Given the description of an element on the screen output the (x, y) to click on. 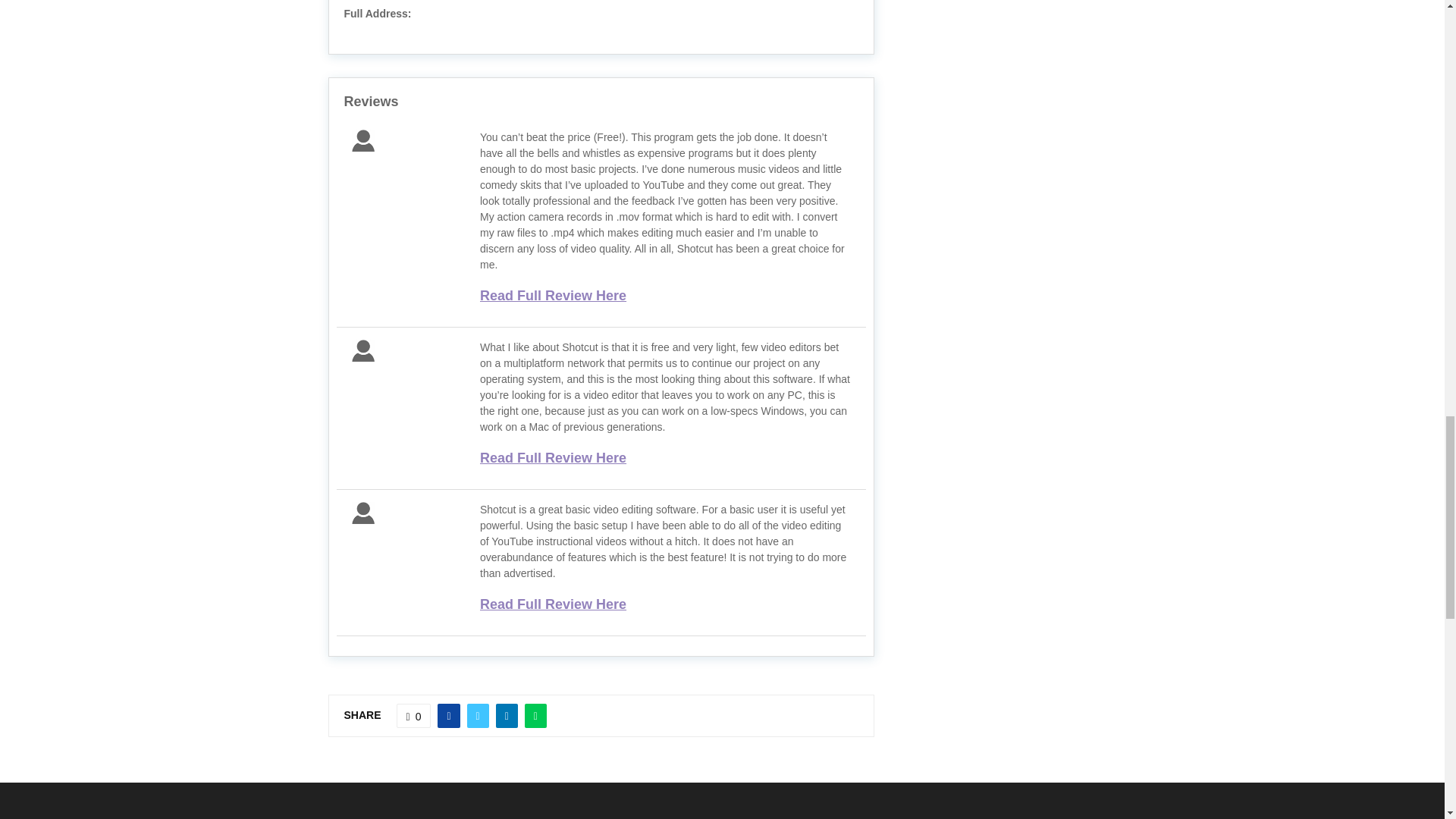
Like (413, 715)
Read Full Review Here (553, 295)
0 (413, 715)
Read Full Review Here (553, 458)
Read Full Review Here (553, 604)
